Given the description of an element on the screen output the (x, y) to click on. 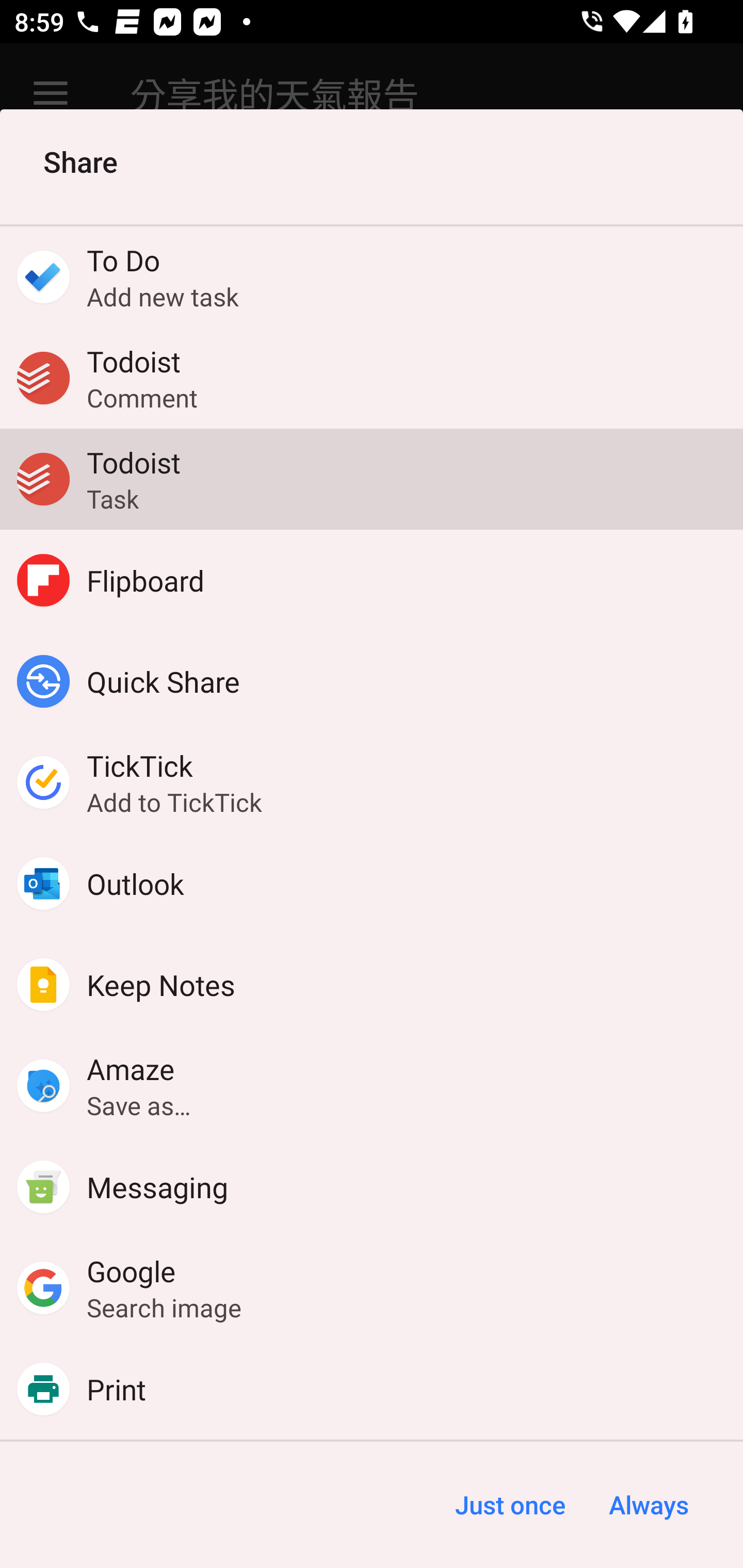
To Do Add new task (371, 276)
Todoist Comment (371, 377)
Todoist Task (371, 478)
Flipboard (371, 579)
Quick Share (371, 681)
TickTick Add to TickTick (371, 782)
Outlook (371, 883)
Keep Notes (371, 984)
Amaze Save as… (371, 1085)
Messaging (371, 1186)
Google Search image (371, 1288)
Print (371, 1389)
Just once (509, 1504)
Always (648, 1504)
